Given the description of an element on the screen output the (x, y) to click on. 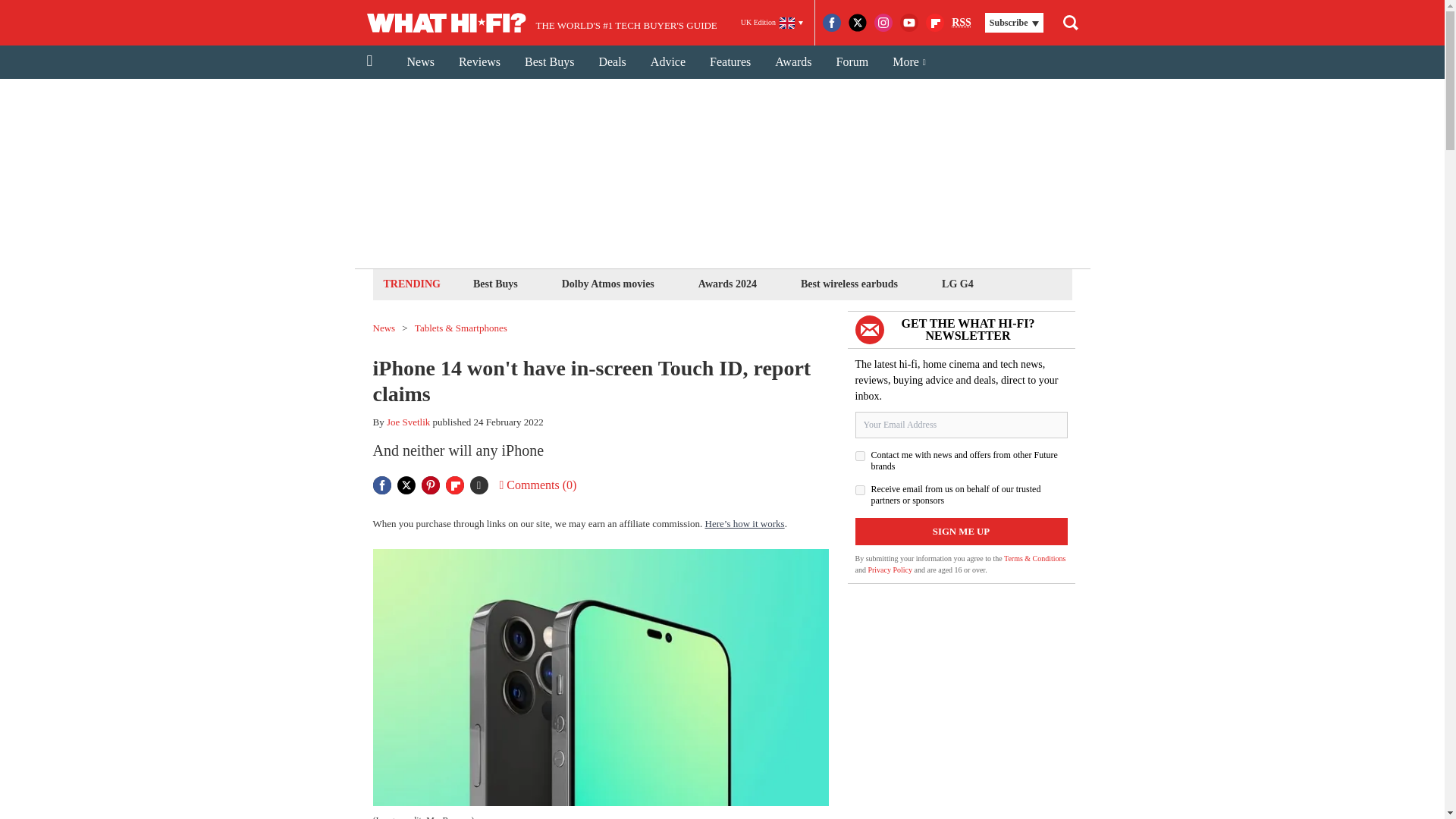
Awards (793, 61)
Features (729, 61)
Best Buys (549, 61)
Forum (852, 61)
Joe Svetlik (408, 421)
Advice (668, 61)
Deals (611, 61)
Sign me up (961, 531)
Really Simple Syndication (961, 21)
UK Edition (771, 22)
Dolby Atmos movies (607, 283)
RSS (961, 22)
News (419, 61)
Best wireless earbuds (848, 283)
Awards 2024 (727, 283)
